Given the description of an element on the screen output the (x, y) to click on. 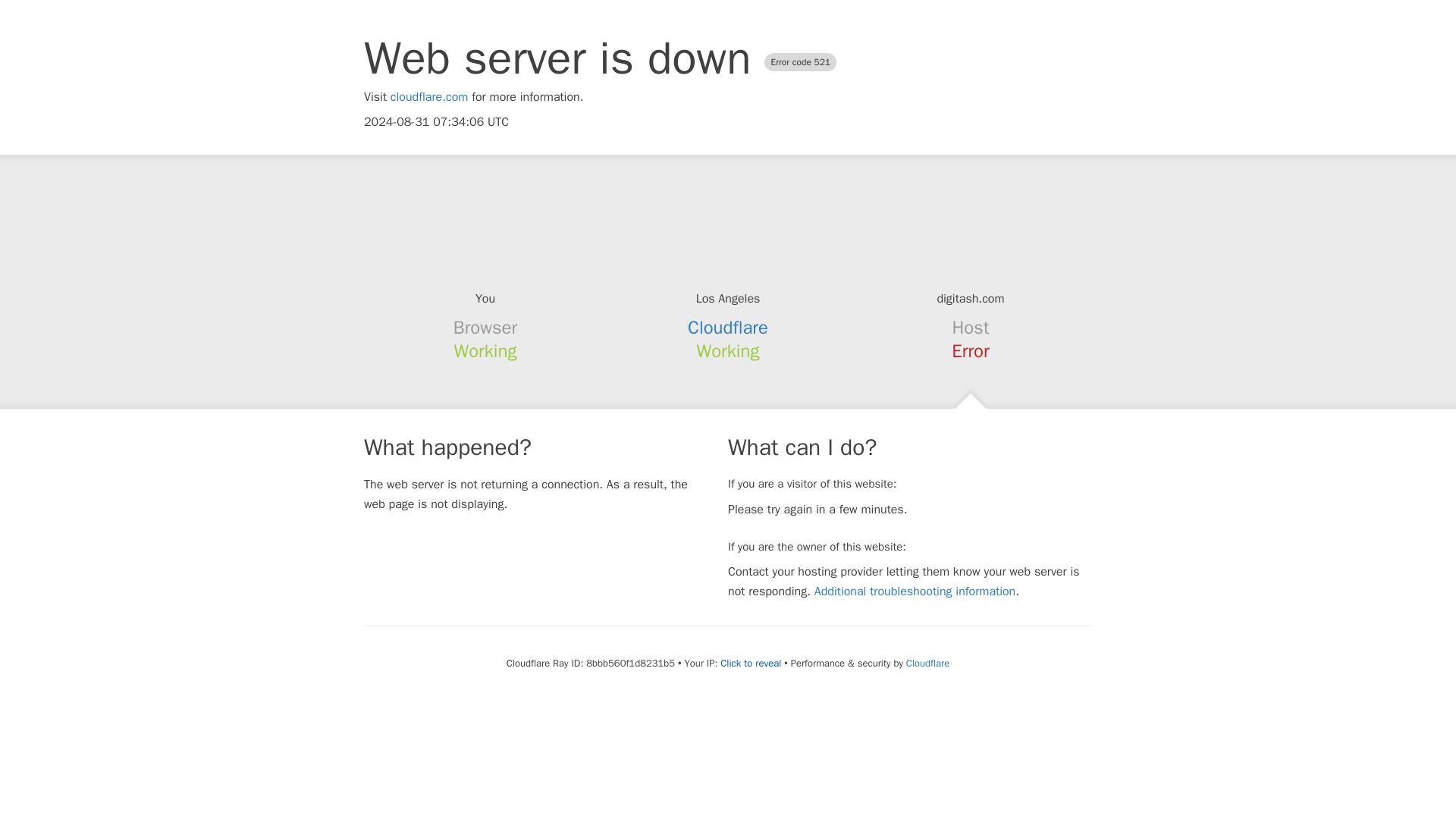
Cloudflare (927, 662)
Additional troubleshooting information (913, 590)
Click to reveal (750, 663)
cloudflare.com (429, 96)
Cloudflare (727, 327)
